Given the description of an element on the screen output the (x, y) to click on. 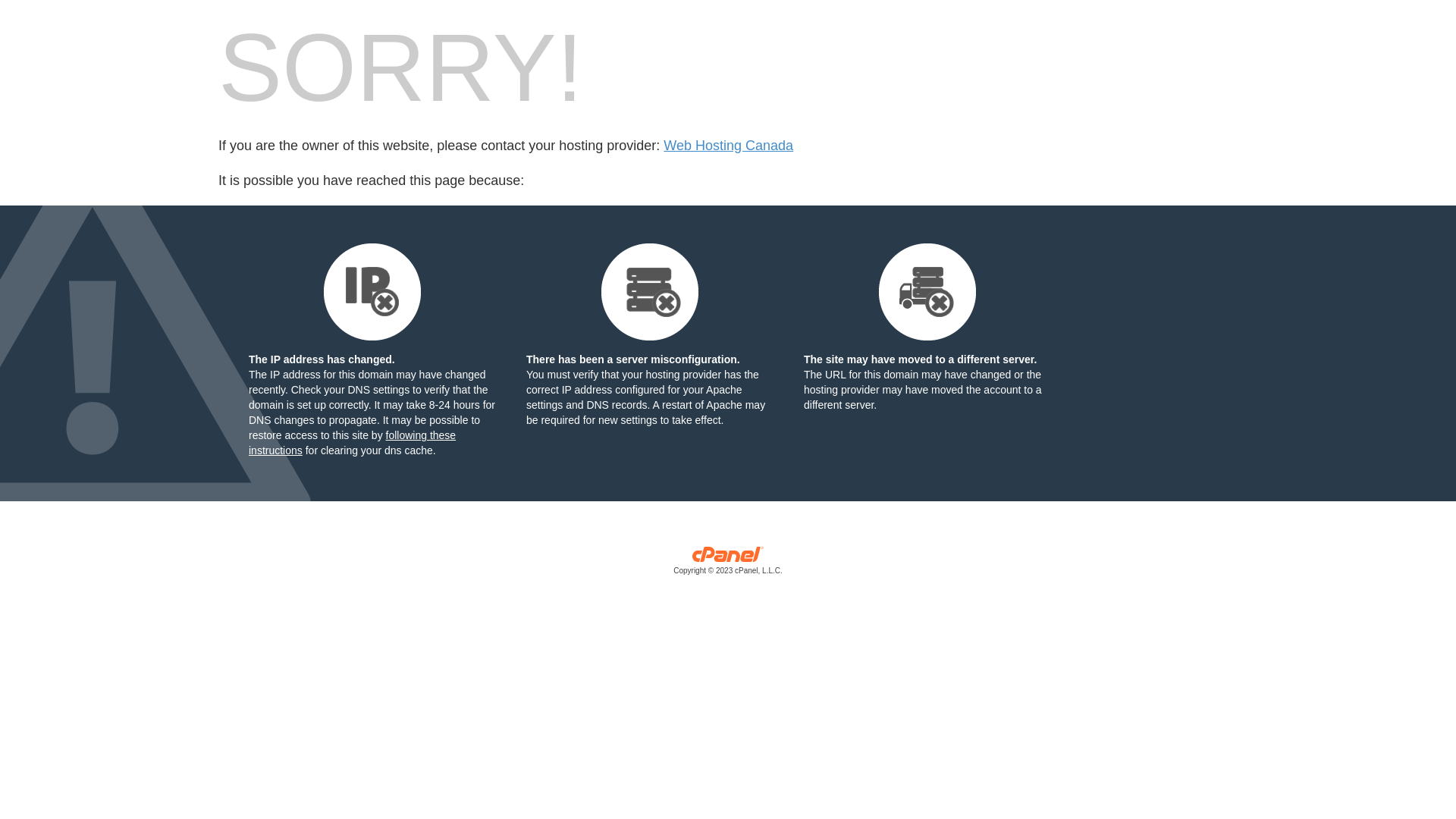
following these instructions Element type: text (351, 442)
Web Hosting Canada Element type: text (728, 145)
